Given the description of an element on the screen output the (x, y) to click on. 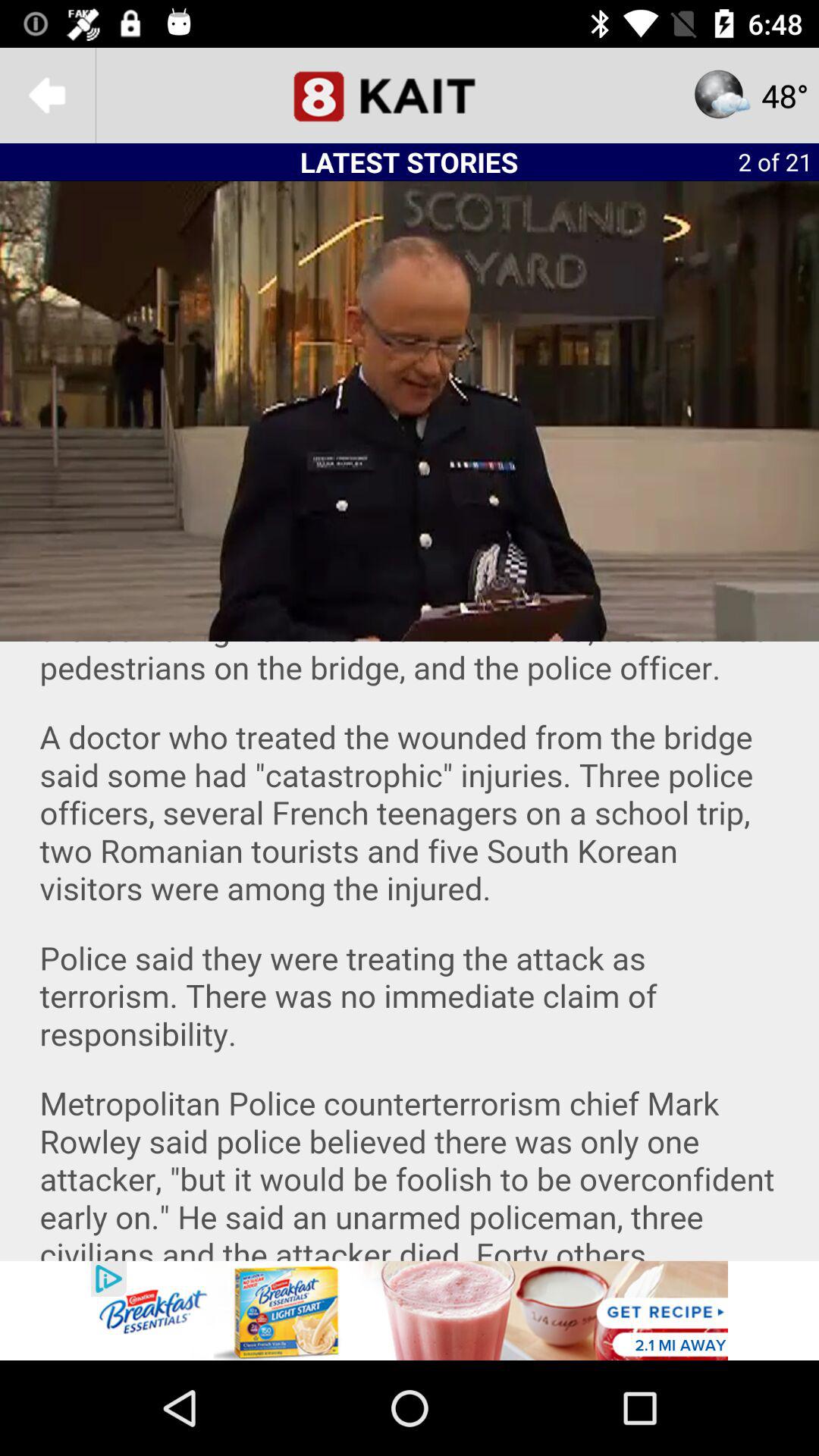
open advertisement (409, 1310)
